Given the description of an element on the screen output the (x, y) to click on. 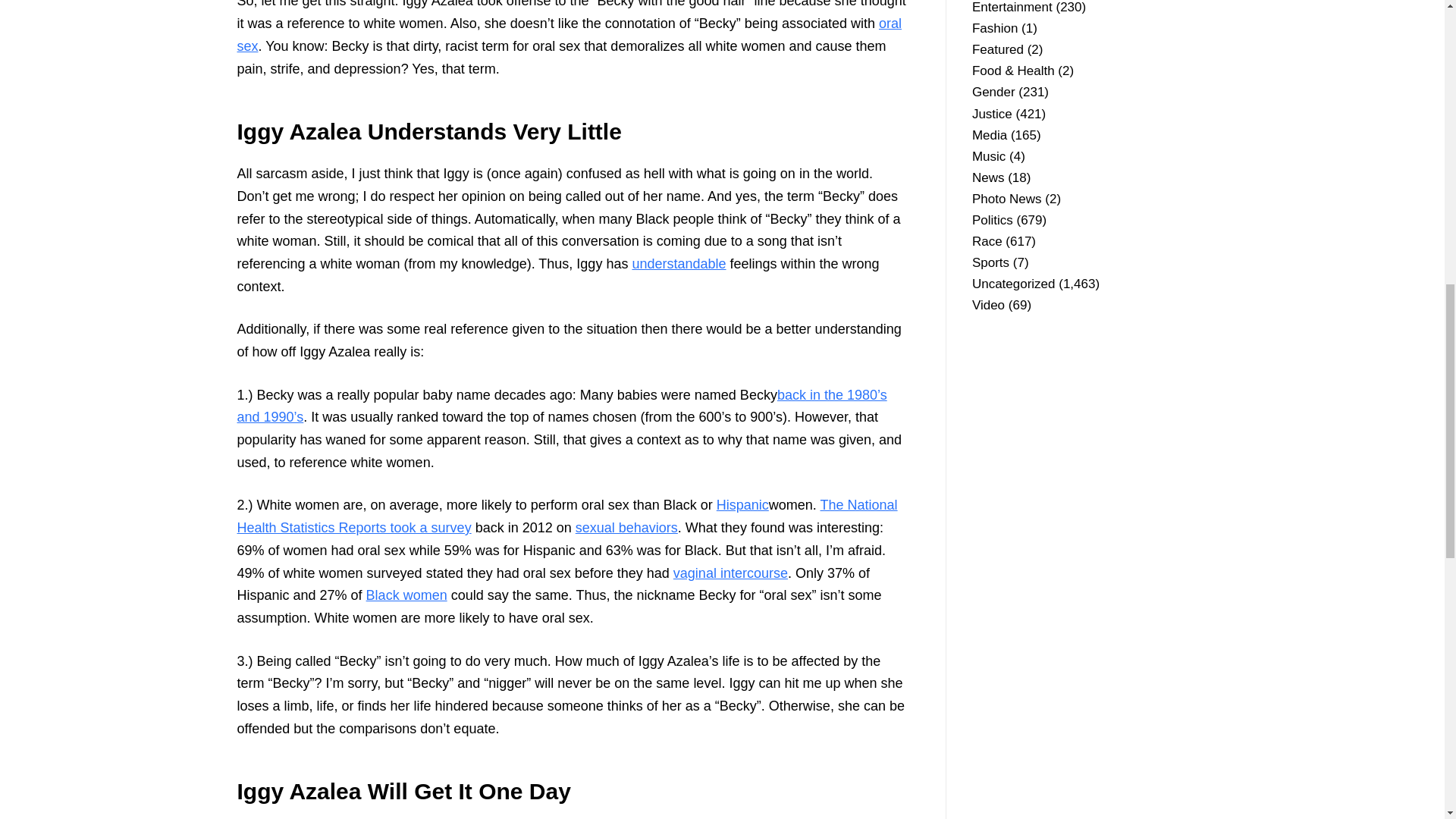
Black people (406, 595)
Hispanic (742, 504)
vaginal intercourse (729, 572)
Human sexual activity (626, 527)
Race and ethnicity in the United States Census (742, 504)
Sexual intercourse (729, 572)
Oral sex (568, 34)
sexual behaviors (626, 527)
Black women (406, 595)
Understanding (678, 263)
